Given the description of an element on the screen output the (x, y) to click on. 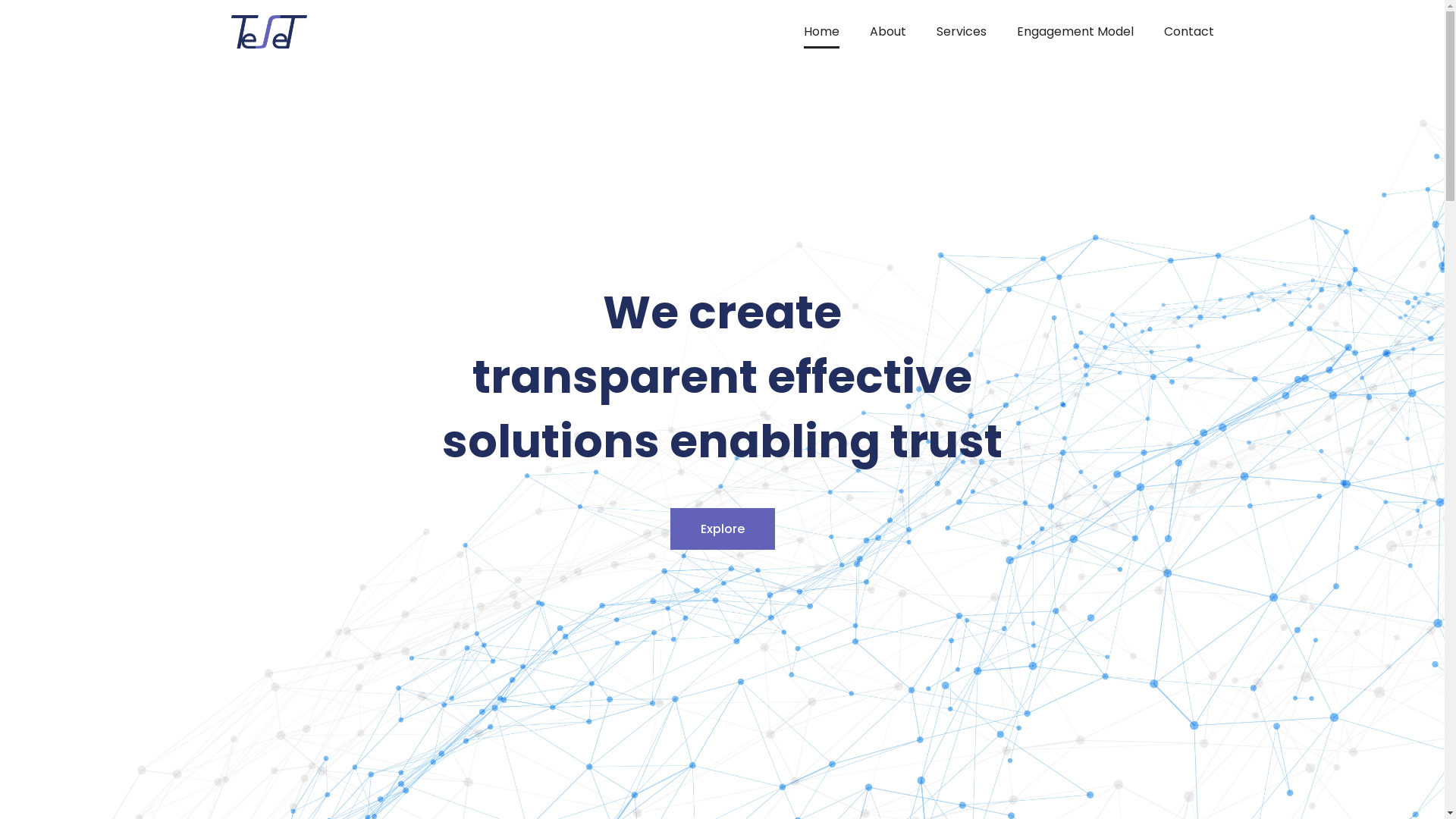
Home Element type: text (821, 31)
About Element type: text (887, 31)
Engagement Model Element type: text (1074, 31)
Explore Element type: text (722, 528)
Services Element type: text (960, 31)
Contact Element type: text (1188, 31)
